Given the description of an element on the screen output the (x, y) to click on. 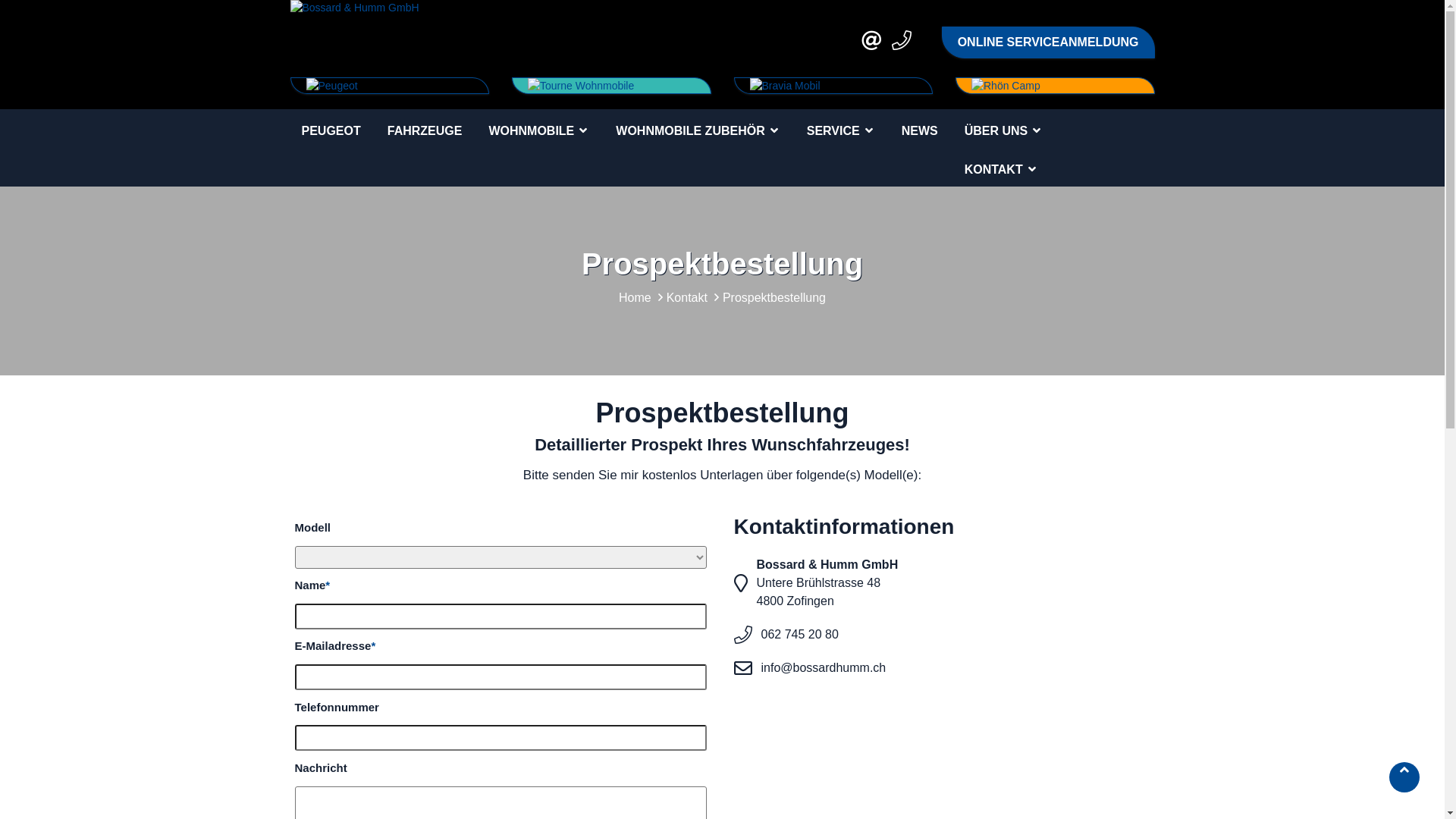
info@bossardhumm.ch Element type: text (823, 667)
PEUGEOT Element type: text (330, 130)
062 745 20 80 Element type: text (799, 633)
FAHRZEUGE Element type: text (424, 130)
KONTAKT Element type: text (1001, 166)
Kontakt Element type: text (686, 297)
NEWS Element type: text (919, 130)
SERVICE Element type: text (840, 128)
Home Element type: text (634, 297)
ONLINE SERVICEANMELDUNG Element type: text (1047, 42)
WOHNMOBILE Element type: text (538, 128)
